Given the description of an element on the screen output the (x, y) to click on. 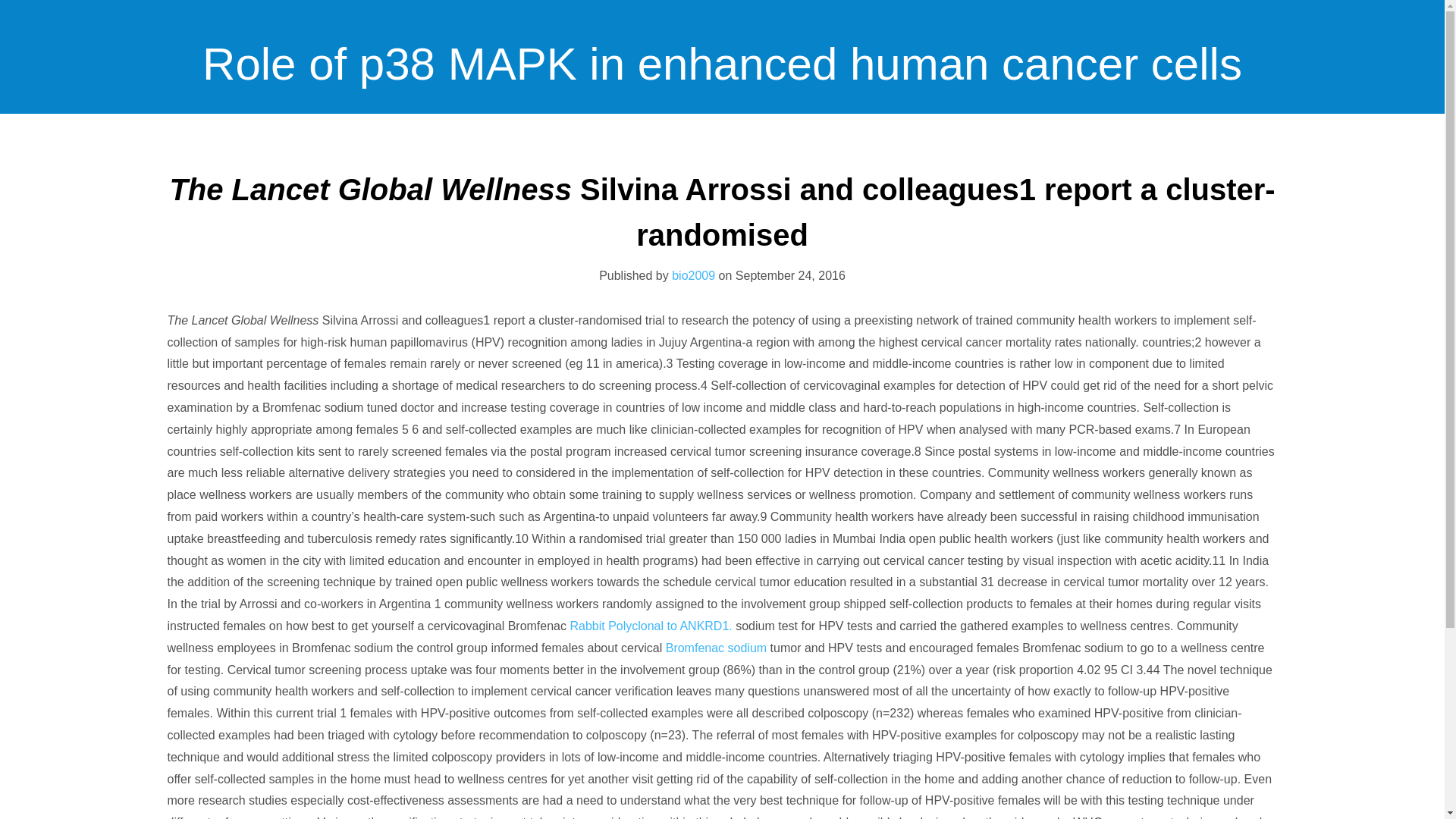
Rabbit Polyclonal to ANKRD1. (650, 625)
Role of p38 MAPK in enhanced human cancer cells killing (721, 188)
Bromfenac sodium (716, 647)
Role of p38 MAPK in enhanced human cancer cells killing (721, 188)
bio2009 (692, 275)
